Given the description of an element on the screen output the (x, y) to click on. 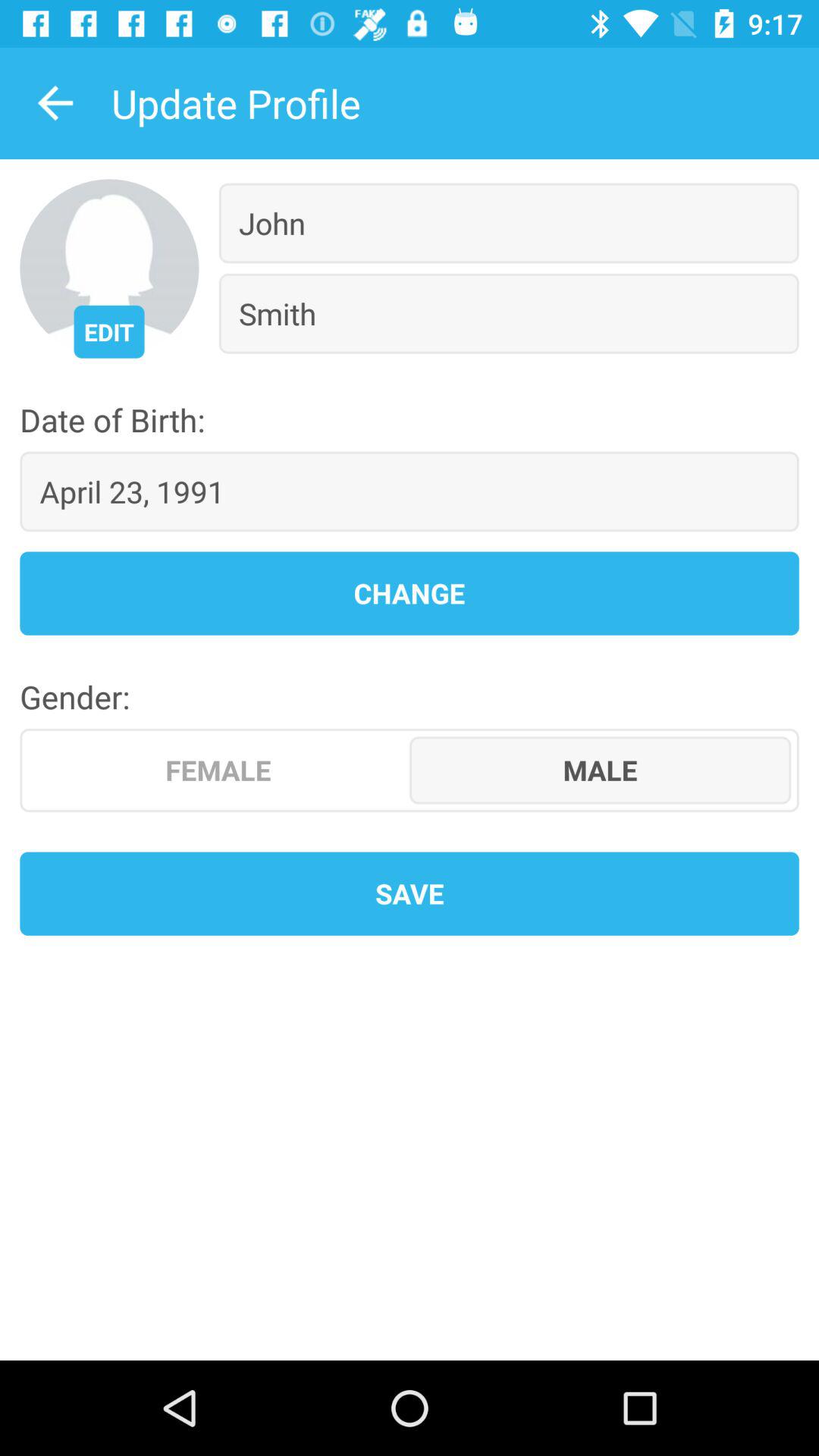
press icon next to the update profile item (55, 103)
